Given the description of an element on the screen output the (x, y) to click on. 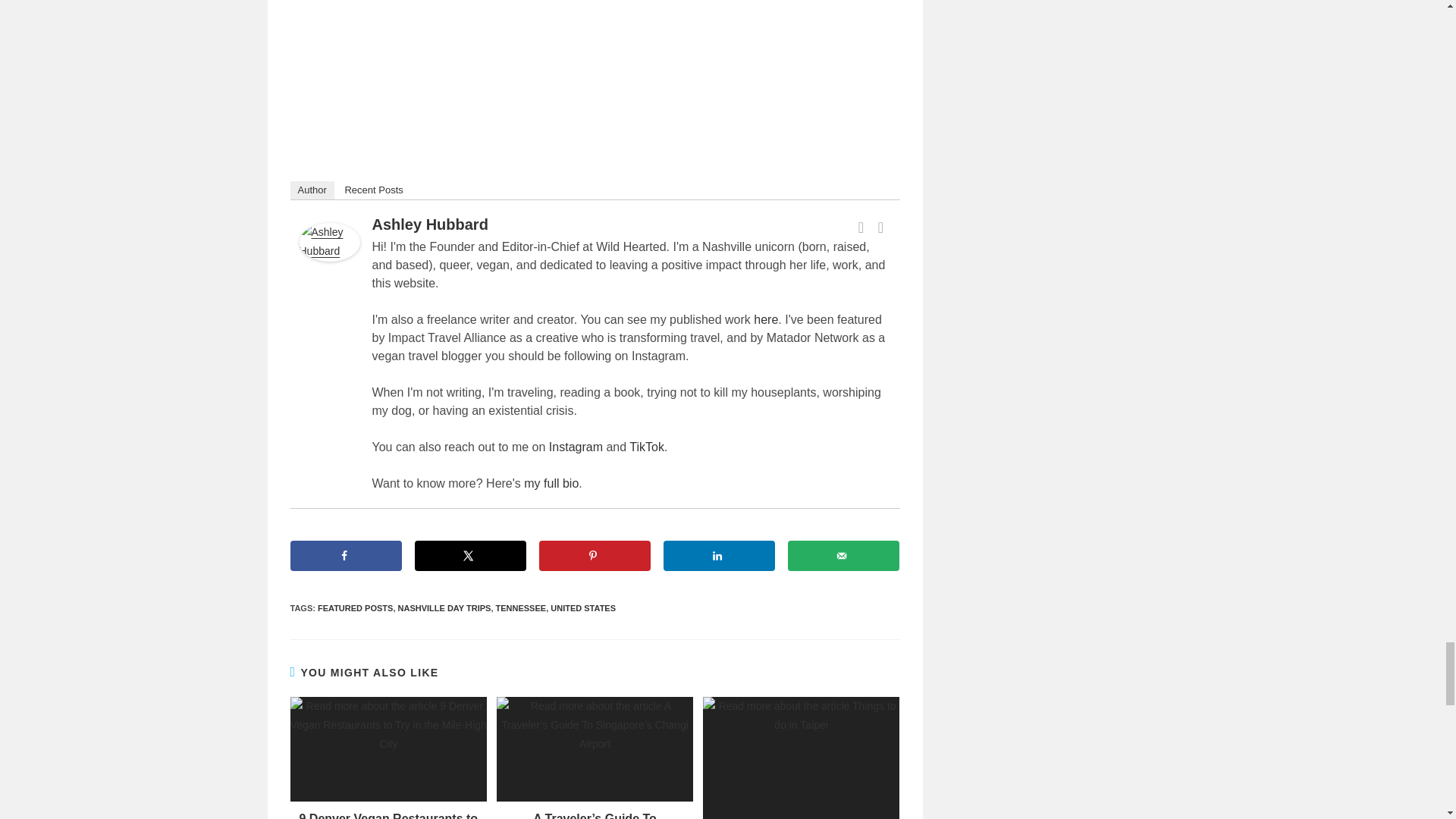
Share on Facebook (345, 555)
Save to Pinterest (594, 555)
Share on X (469, 555)
Twitter (880, 227)
Ashley Hubbard (328, 241)
Facebook (860, 227)
